Given the description of an element on the screen output the (x, y) to click on. 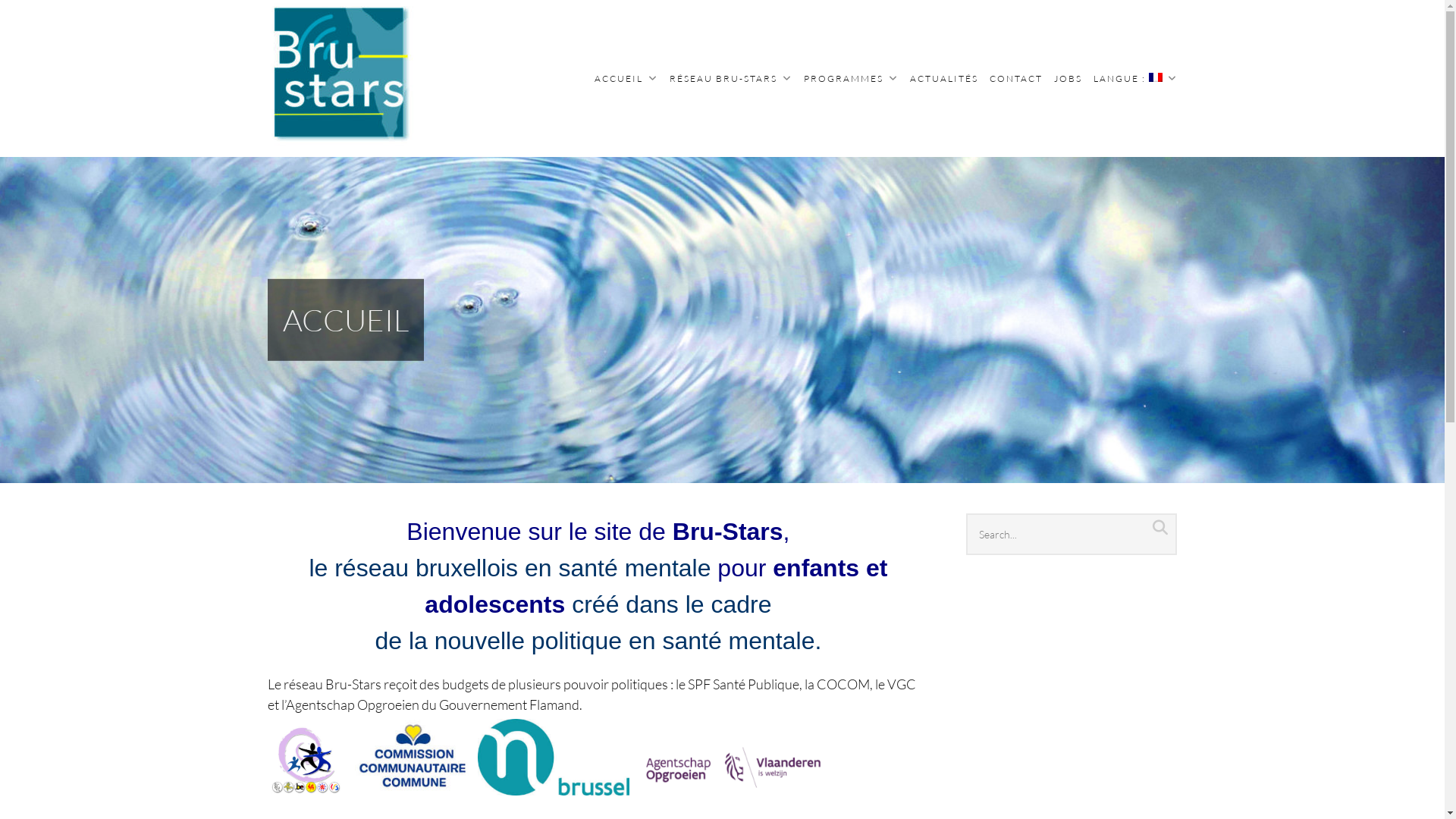
BRU-STARS Element type: text (324, 164)
JOBS Element type: text (1068, 78)
CONTACT Element type: text (1014, 78)
Search Element type: text (1159, 527)
LANGUE :  Element type: text (1135, 78)
Search Element type: text (33, 20)
ACCUEIL Element type: text (626, 78)
PROGRAMMES Element type: text (850, 78)
Search for: Element type: hover (1071, 534)
